Given the description of an element on the screen output the (x, y) to click on. 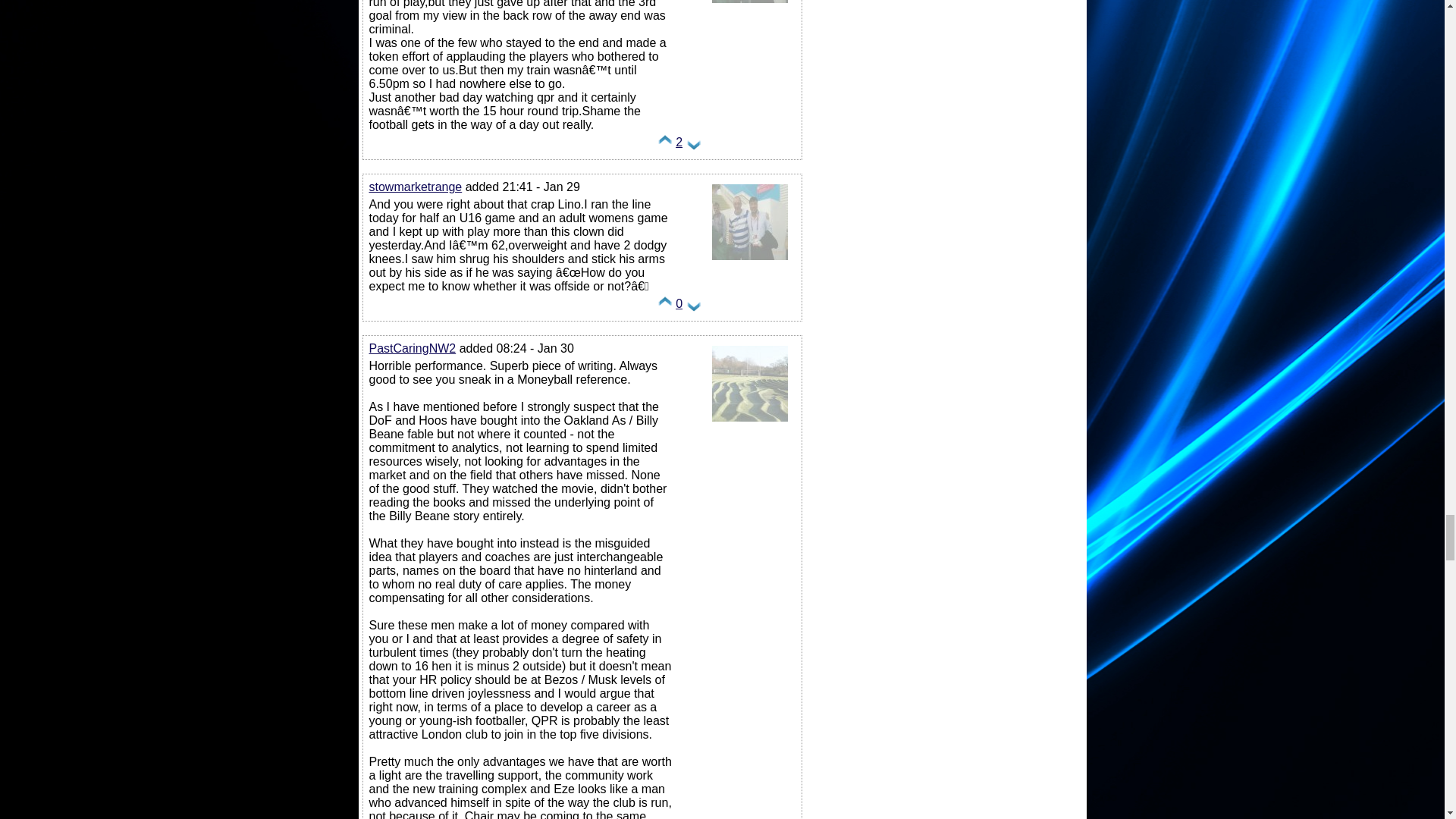
stowmarketrange is offline (749, 259)
stowmarketrange is offline (749, 4)
Click if you disagree with this post (692, 307)
PastCaringNW2 is offline (749, 420)
Click if you agree with this post (665, 307)
Click if you disagree with this post (692, 145)
Click if you agree with this post (665, 145)
